Given the description of an element on the screen output the (x, y) to click on. 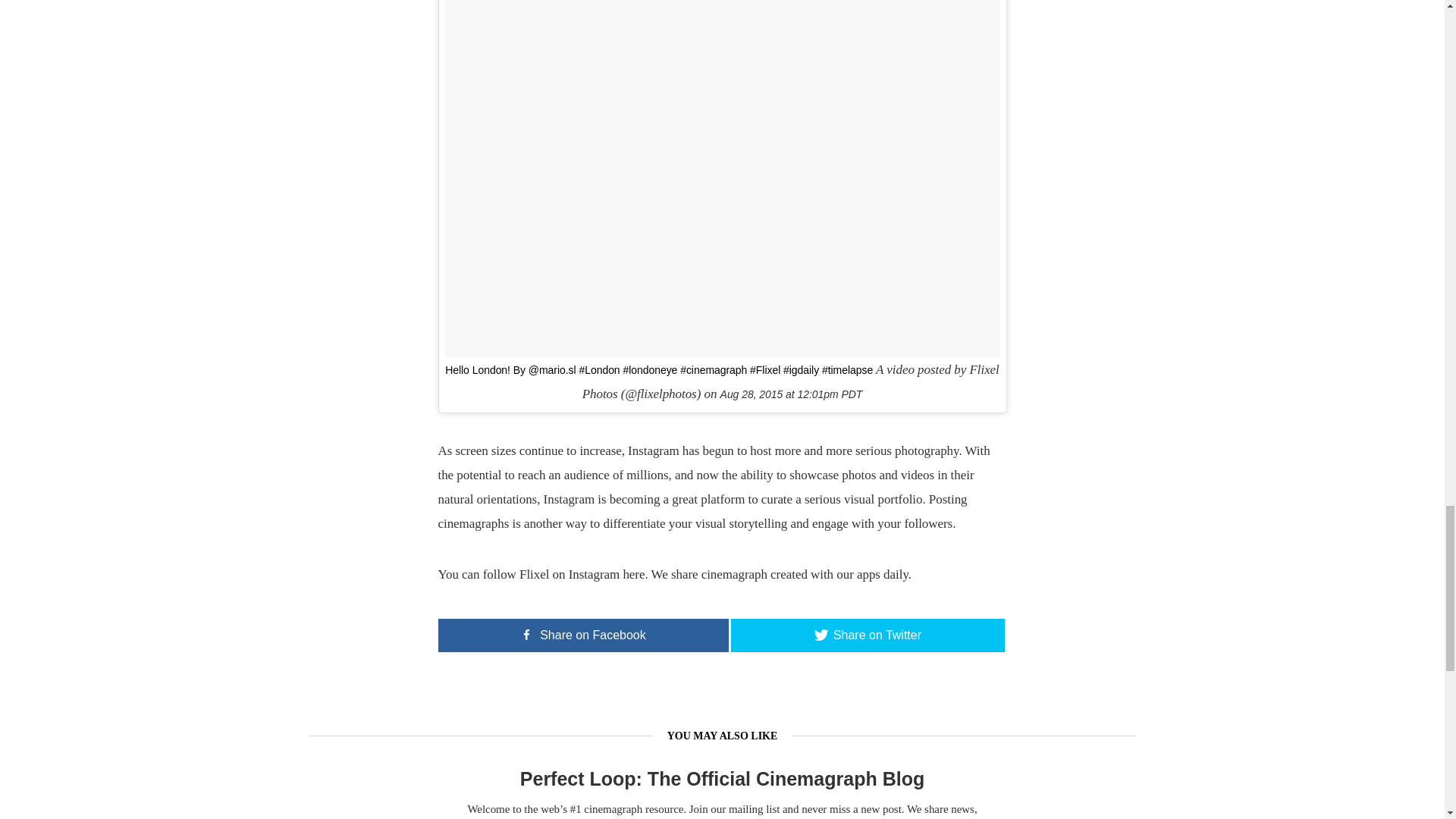
Share on Facebook (583, 635)
here (632, 574)
Share on Twitter (867, 635)
